Given the description of an element on the screen output the (x, y) to click on. 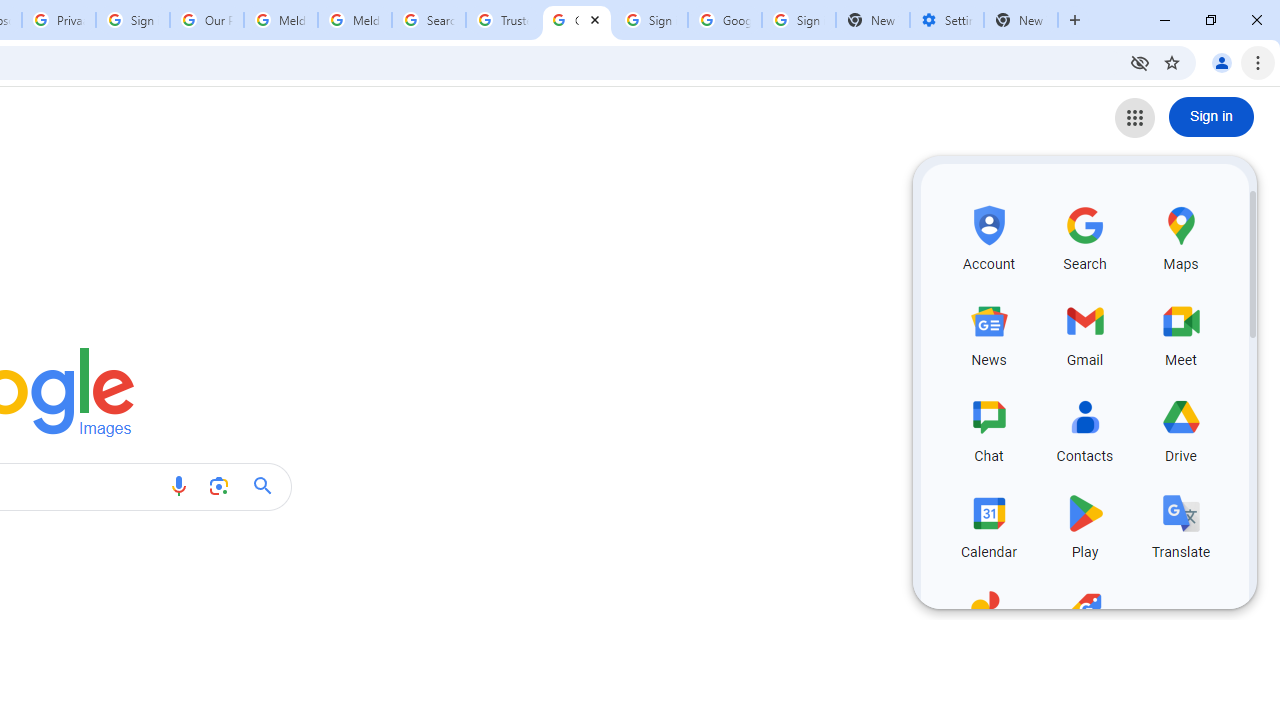
Contacts, row 3 of 5 and column 2 of 3 in the first section (1084, 427)
Settings - Addresses and more (947, 20)
Search, row 1 of 5 and column 2 of 3 in the first section (1084, 235)
Google Search (268, 485)
News, row 2 of 5 and column 1 of 3 in the first section (988, 331)
Meet, row 2 of 5 and column 3 of 3 in the first section (1180, 331)
Search by voice (178, 485)
Maps, row 1 of 5 and column 3 of 3 in the first section (1180, 235)
Translate, row 4 of 5 and column 3 of 3 in the first section (1180, 523)
